Given the description of an element on the screen output the (x, y) to click on. 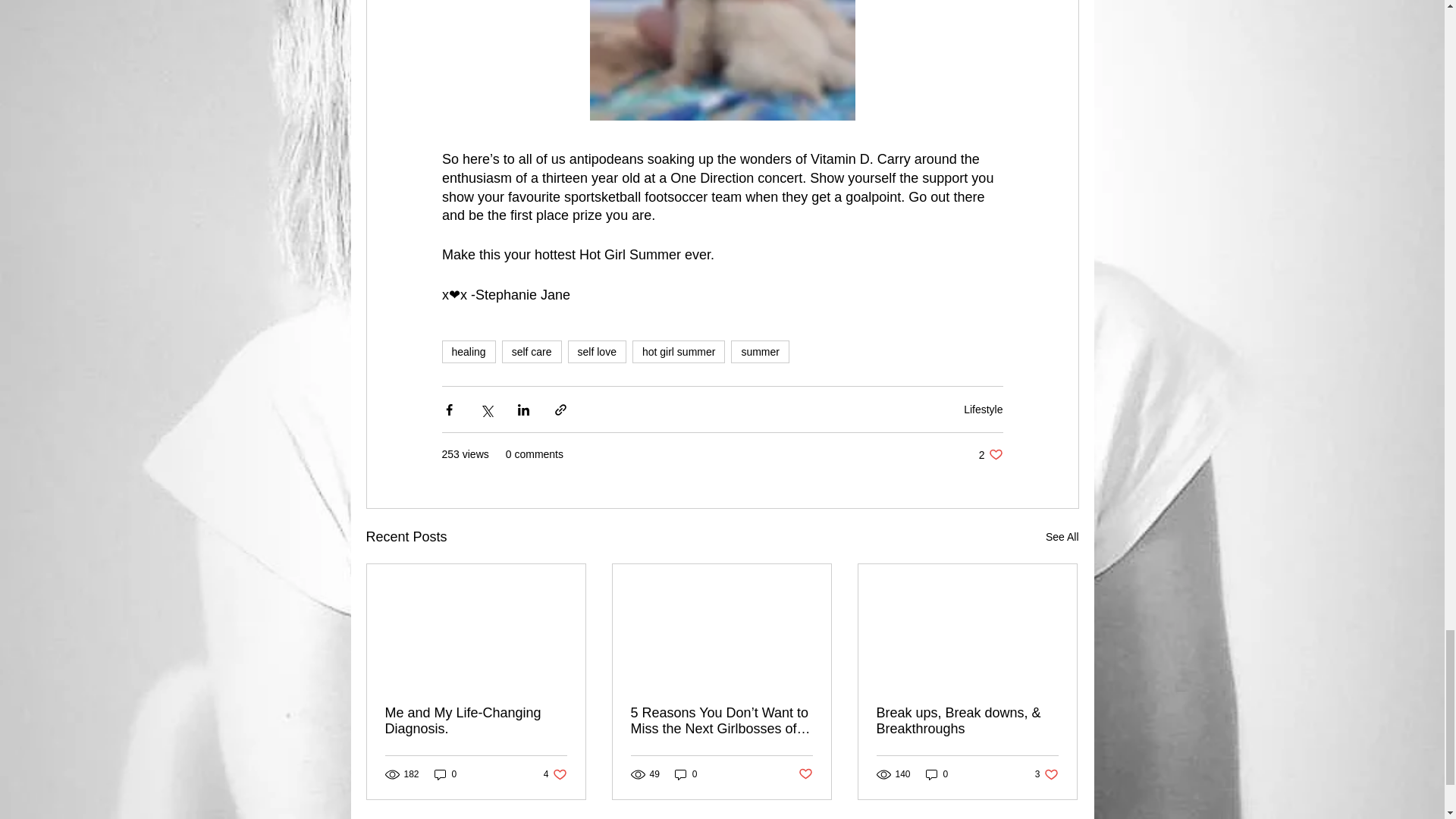
healing (468, 351)
Post not marked as liked (990, 454)
0 (804, 774)
See All (685, 774)
Me and My Life-Changing Diagnosis. (1061, 536)
Lifestyle (476, 721)
hot girl summer (983, 409)
0 (678, 351)
self care (445, 774)
self love (532, 351)
summer (555, 774)
